Given the description of an element on the screen output the (x, y) to click on. 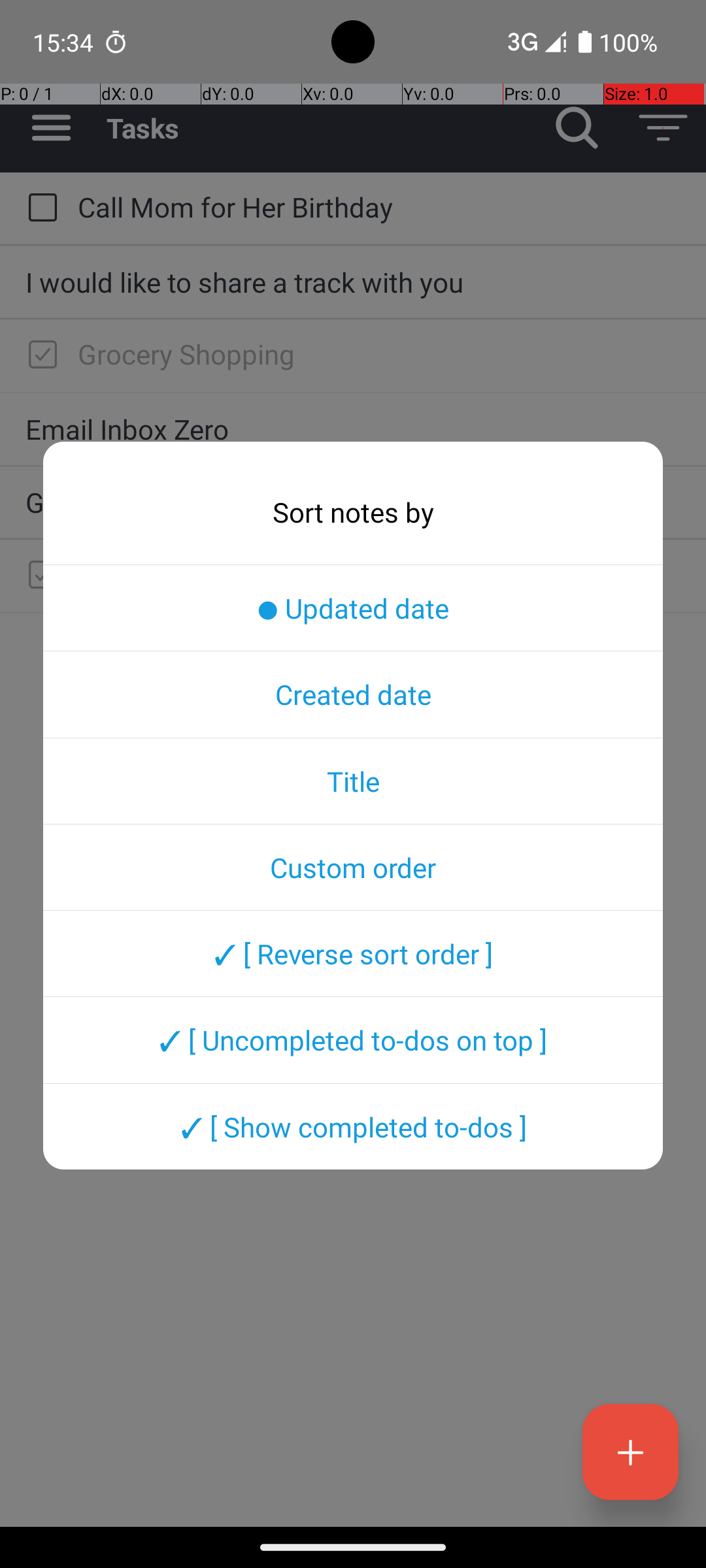
⬤ Updated date Element type: android.widget.TextView (352, 607)
Created date Element type: android.widget.TextView (352, 693)
Custom order Element type: android.widget.TextView (352, 866)
✓ [ Reverse sort order ] Element type: android.widget.TextView (352, 953)
✓ [ Uncompleted to-dos on top ] Element type: android.widget.TextView (352, 1039)
✓ [ Show completed to-dos ] Element type: android.widget.TextView (352, 1126)
to-do: Call Mom for Her Birthday Element type: android.widget.CheckBox (38, 208)
Call Mom for Her Birthday Element type: android.widget.TextView (378, 206)
I would like to share a track with you Element type: android.widget.TextView (352, 281)
to-do: Grocery Shopping Element type: android.widget.CheckBox (38, 355)
Grocery Shopping Element type: android.widget.TextView (378, 353)
Email Inbox Zero Element type: android.widget.TextView (352, 428)
Grocery Trip Element type: android.widget.TextView (352, 501)
to-do: Clean Out Garage Element type: android.widget.CheckBox (38, 575)
Clean Out Garage Element type: android.widget.TextView (378, 573)
 Element type: android.widget.TextView (42, 355)
